Given the description of an element on the screen output the (x, y) to click on. 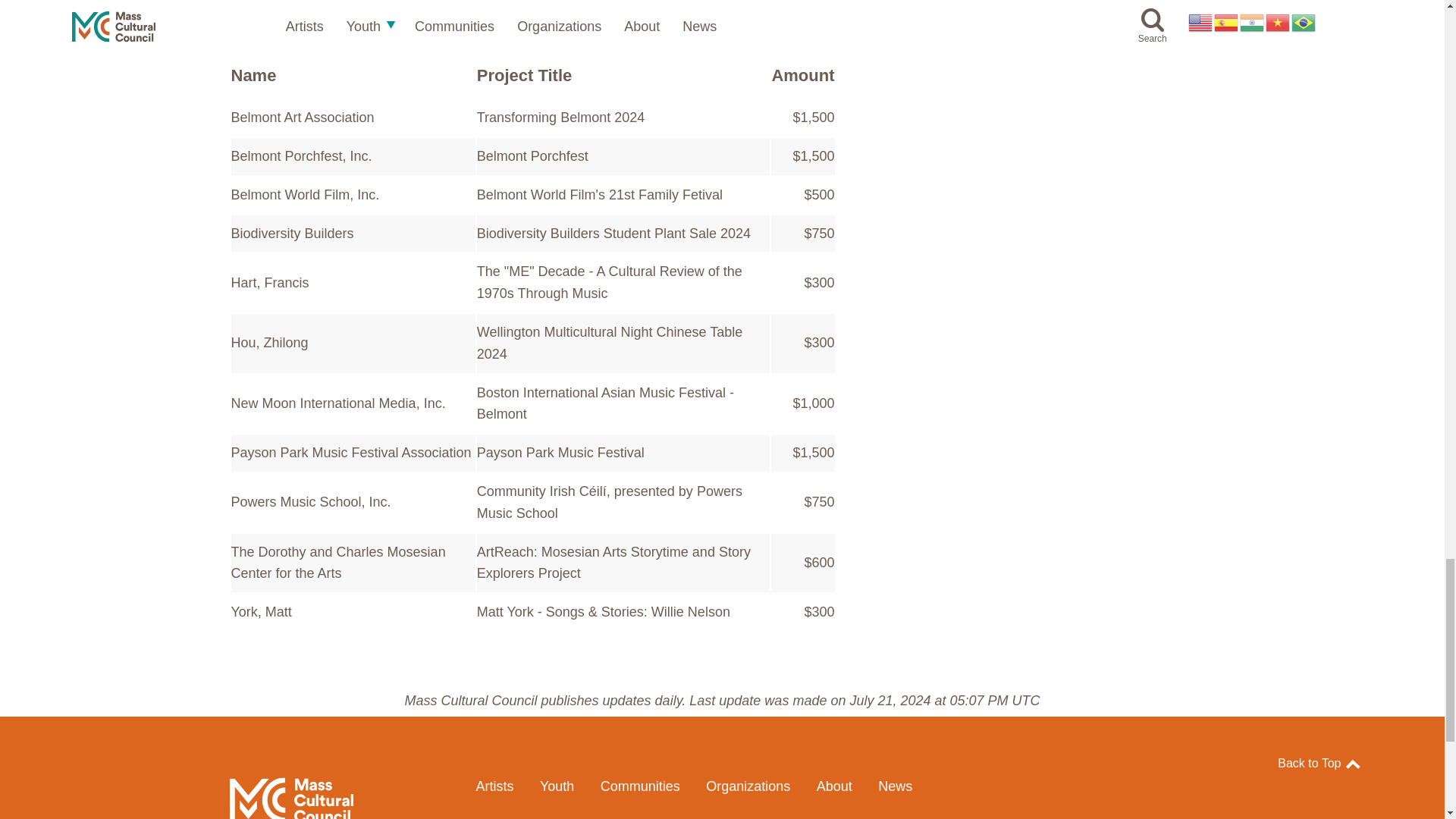
News (894, 785)
About (833, 785)
Artists (494, 785)
Youth (556, 785)
Organizations (748, 785)
Communities (639, 785)
